Given the description of an element on the screen output the (x, y) to click on. 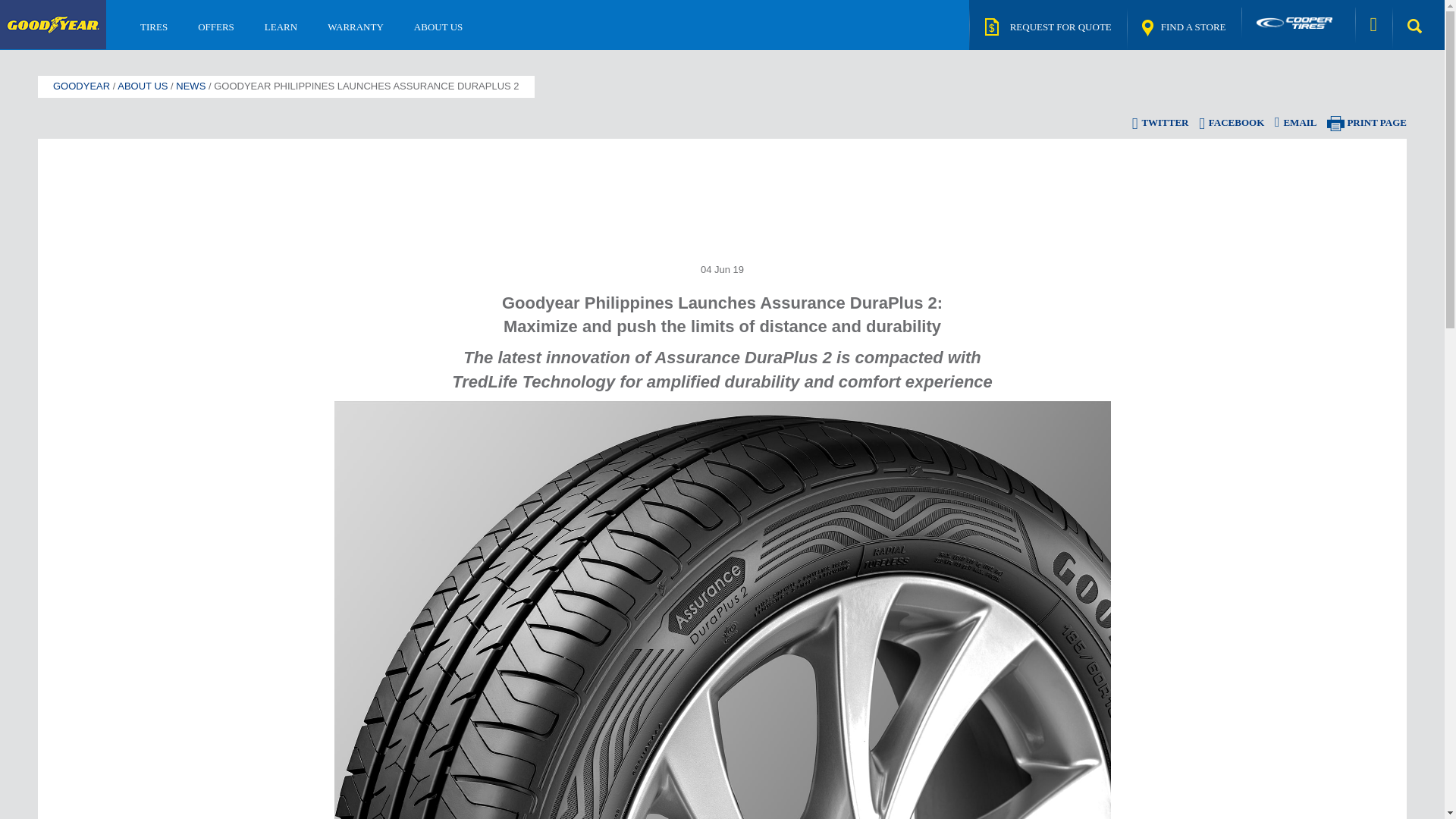
WARRANTY (355, 27)
OFFERS (215, 27)
LEARN (280, 27)
TIRES (154, 27)
ABOUT US (437, 27)
